Given the description of an element on the screen output the (x, y) to click on. 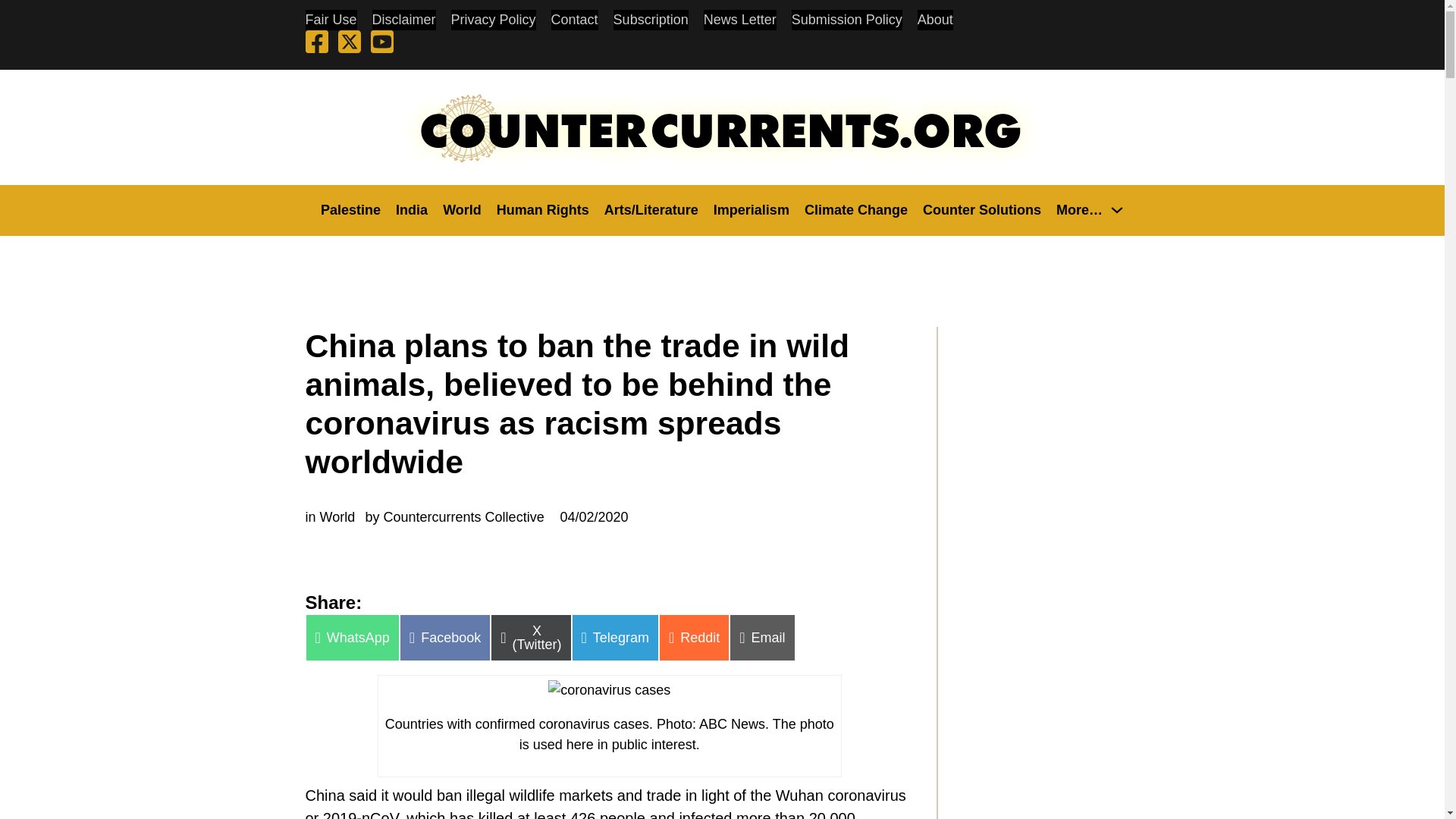
Climate Change (856, 209)
Subscription (650, 19)
Disclaimer (403, 19)
Human Rights (542, 209)
Fair Use (330, 19)
About (935, 19)
India (412, 209)
Counter Solutions (982, 209)
Submission Policy (847, 19)
